Given the description of an element on the screen output the (x, y) to click on. 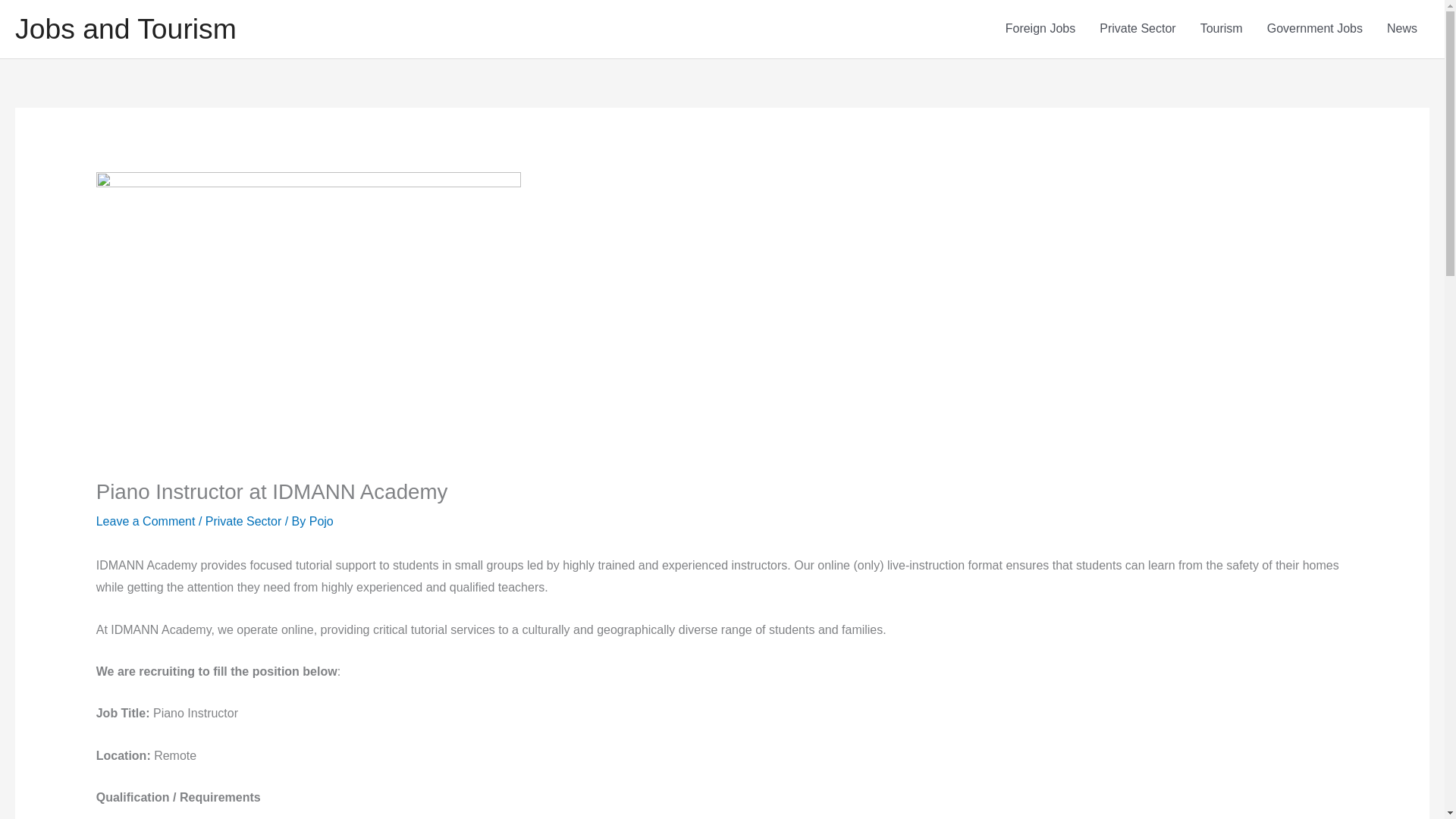
Jobs and Tourism (124, 29)
Private Sector (243, 520)
Government Jobs (1314, 29)
Foreign Jobs (1039, 29)
View all posts by Pojo (320, 520)
Leave a Comment (145, 520)
Private Sector (1137, 29)
Pojo (320, 520)
Tourism (1221, 29)
News (1401, 29)
